Given the description of an element on the screen output the (x, y) to click on. 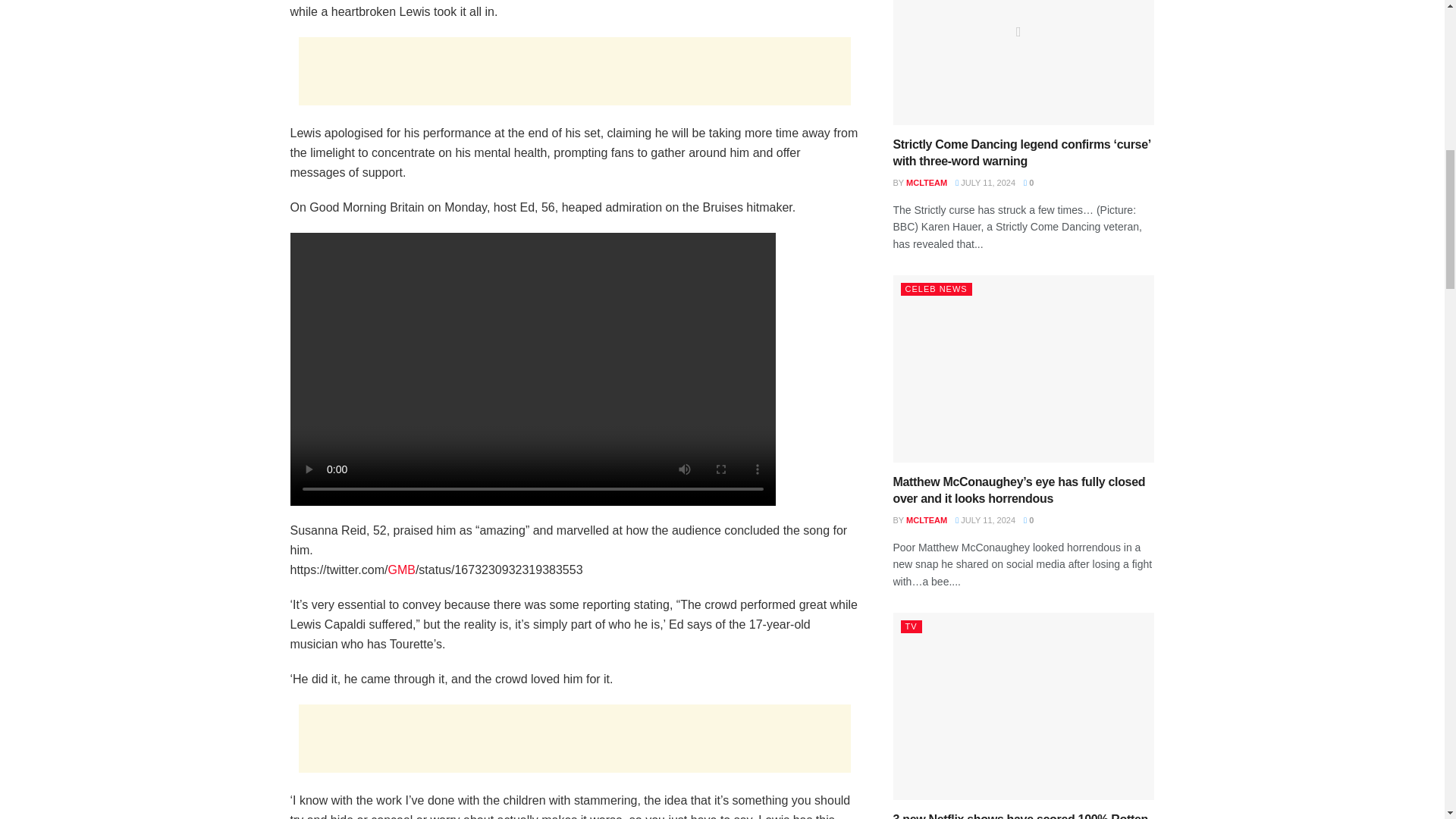
gmb (400, 569)
